Given the description of an element on the screen output the (x, y) to click on. 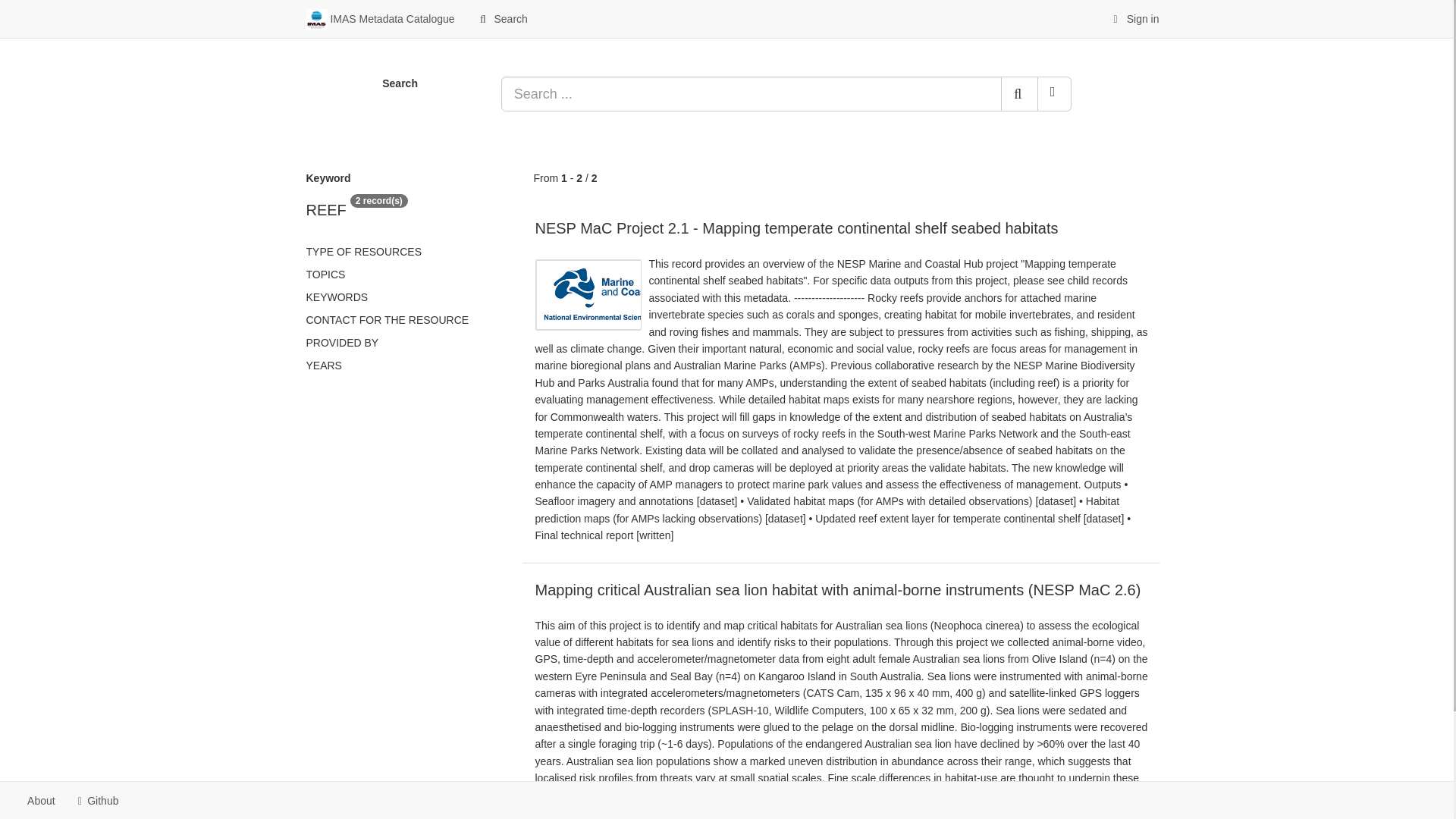
IMAS Metadata Catalogue (379, 18)
  Search (501, 18)
Reset (1053, 93)
Search (501, 18)
Sign in (1134, 18)
Search (1019, 93)
Learn how to use the catalog REST API. (142, 800)
  Sign in (1134, 18)
